Given the description of an element on the screen output the (x, y) to click on. 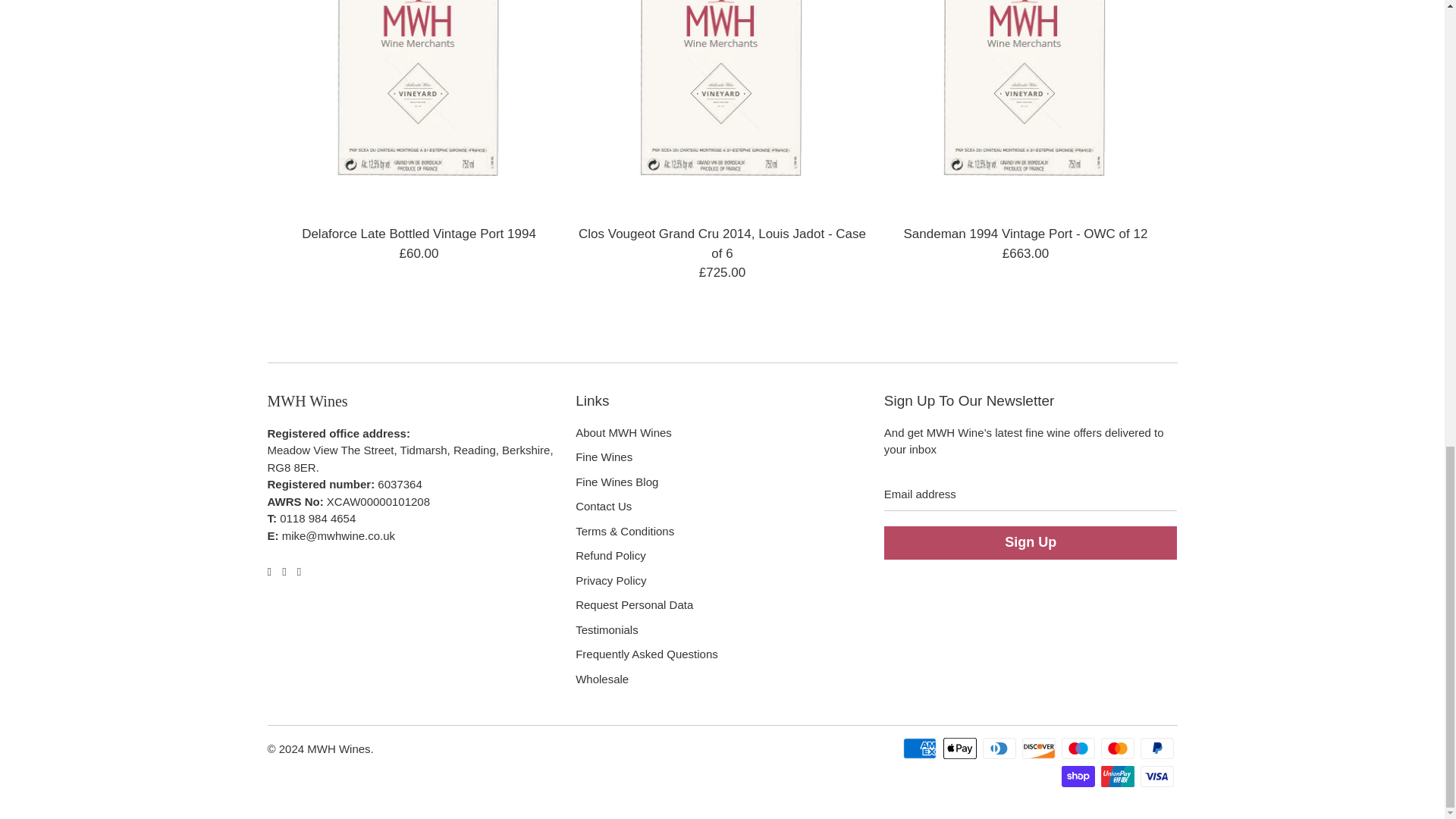
Sign Up (1030, 542)
Delaforce Late Bottled Vintage Port 1994 (418, 104)
